Given the description of an element on the screen output the (x, y) to click on. 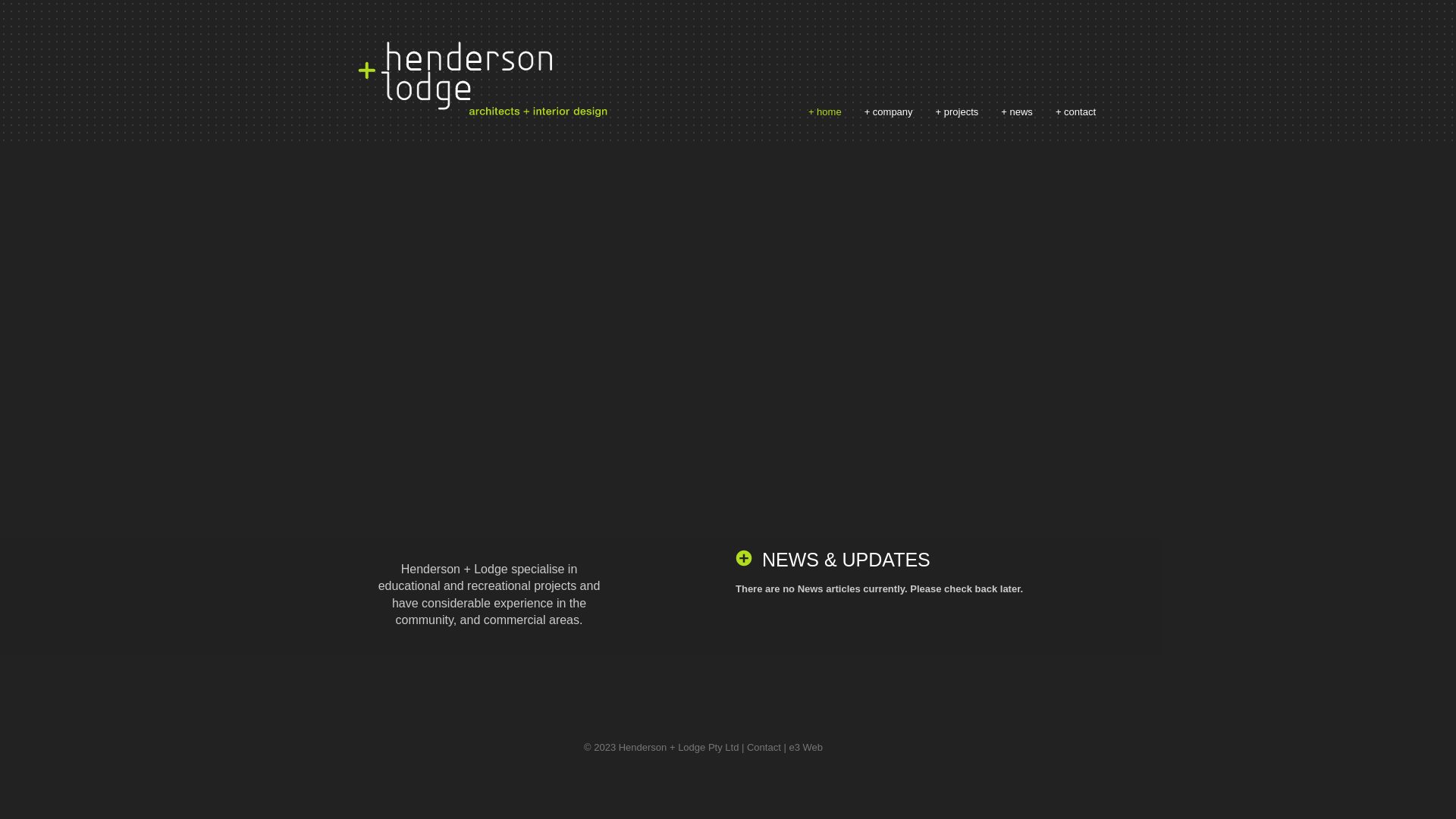
+ contact Element type: text (1075, 112)
e3 Web Element type: text (805, 747)
+ company Element type: text (888, 112)
+ home Element type: text (824, 112)
Contact Element type: text (763, 747)
Henderson + Lodge Element type: hover (481, 79)
+ news Element type: text (1016, 112)
+ projects Element type: text (956, 112)
